Given the description of an element on the screen output the (x, y) to click on. 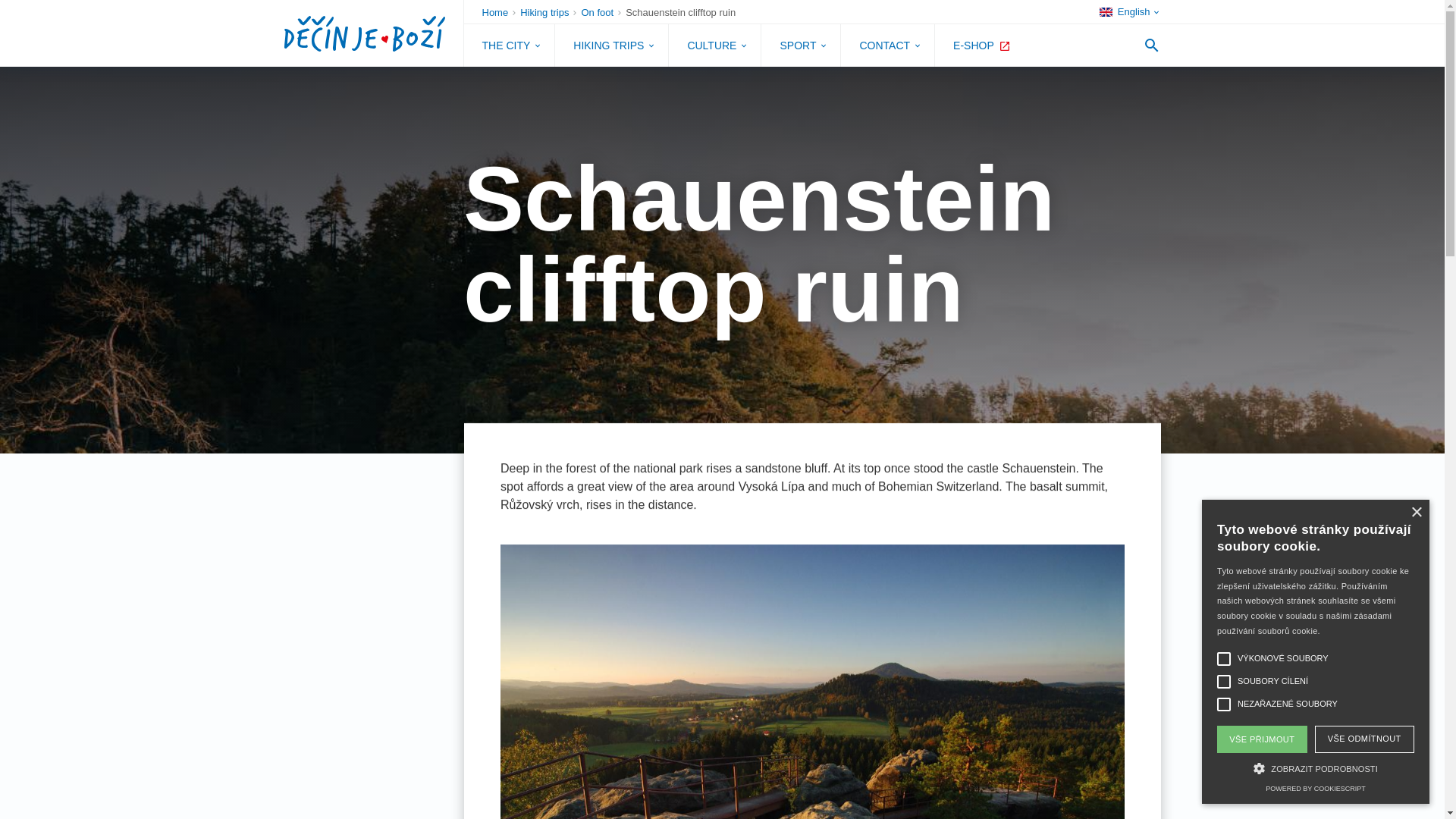
Hiking trips (549, 12)
Home (500, 12)
English (1130, 12)
On foot (602, 12)
Search (1150, 45)
Decin (363, 33)
